Given the description of an element on the screen output the (x, y) to click on. 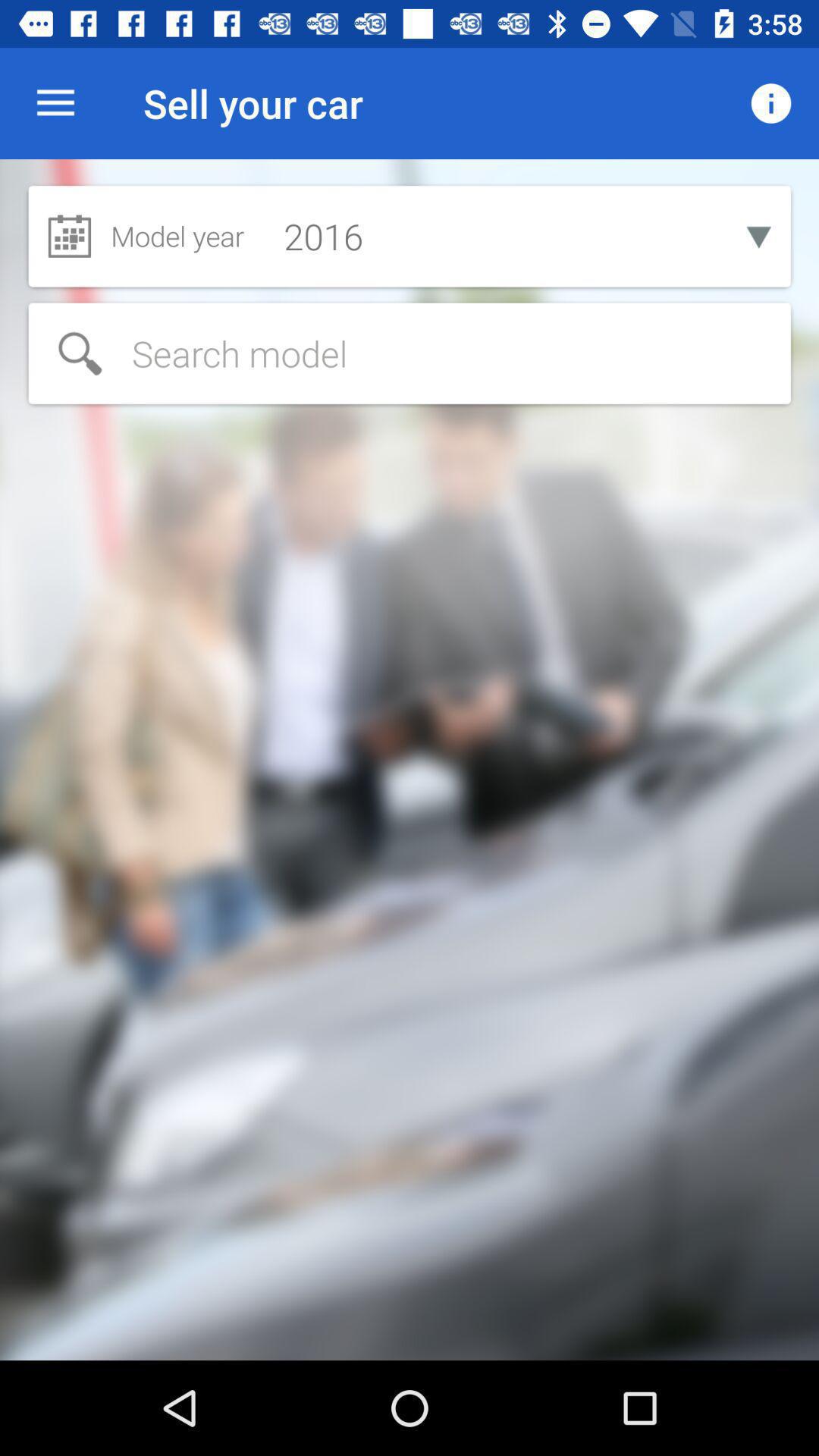
turn on the item next to the sell your car icon (771, 103)
